Given the description of an element on the screen output the (x, y) to click on. 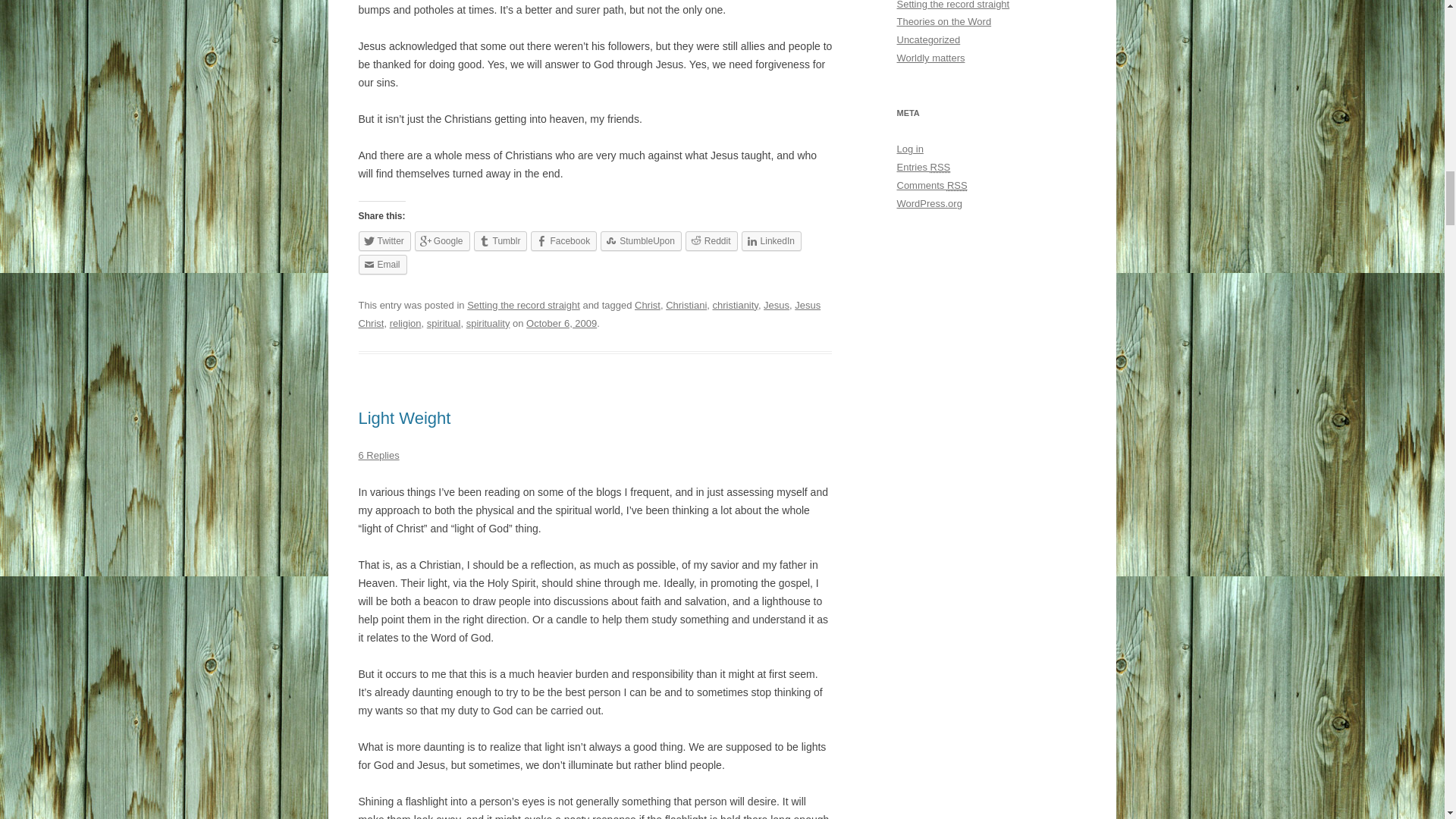
Share on Facebook (563, 240)
Click to share on Tumblr (500, 240)
Click to share on Twitter (384, 240)
